Given the description of an element on the screen output the (x, y) to click on. 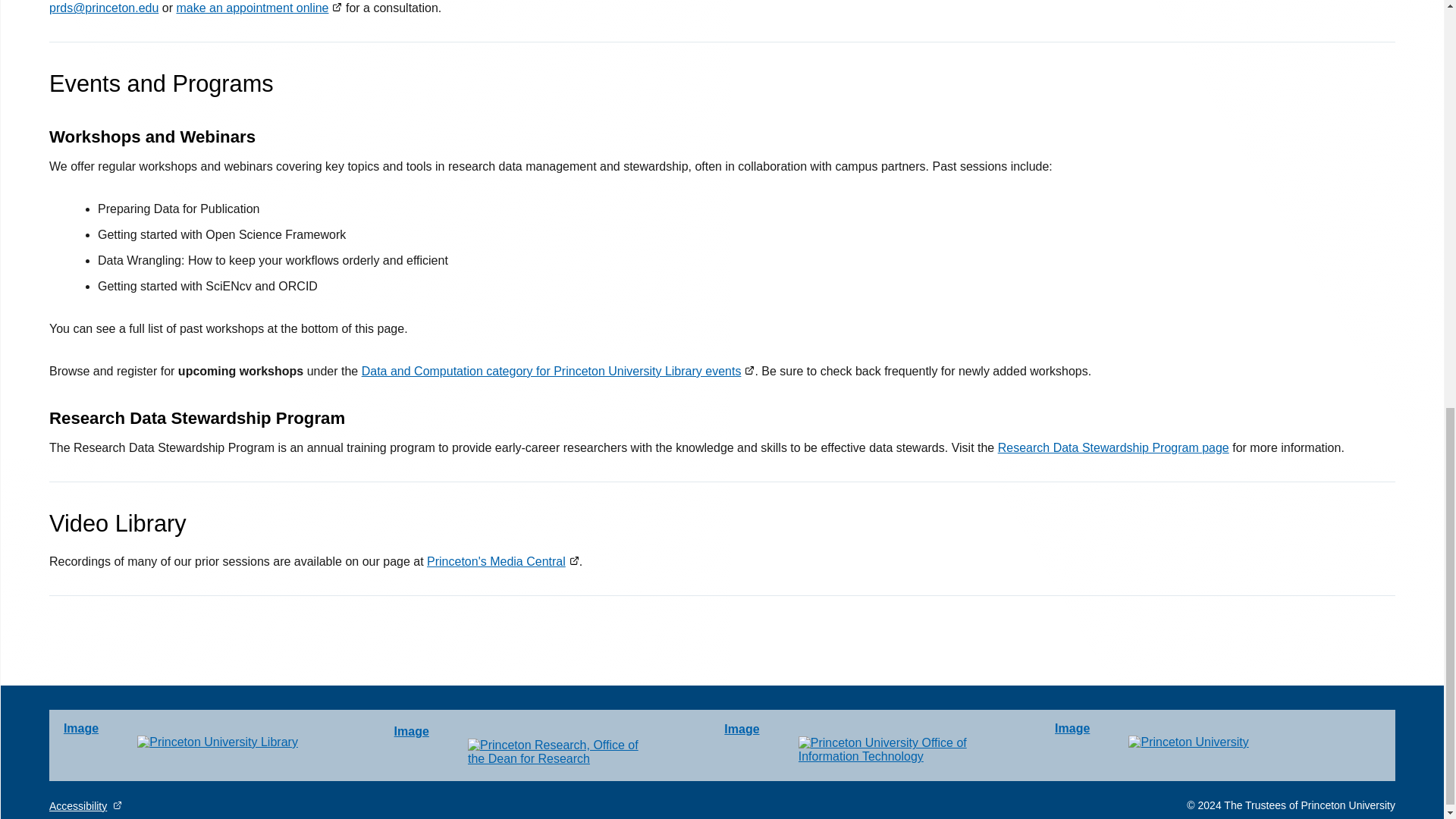
Princeton University Library Events - PRDS (558, 370)
